Given the description of an element on the screen output the (x, y) to click on. 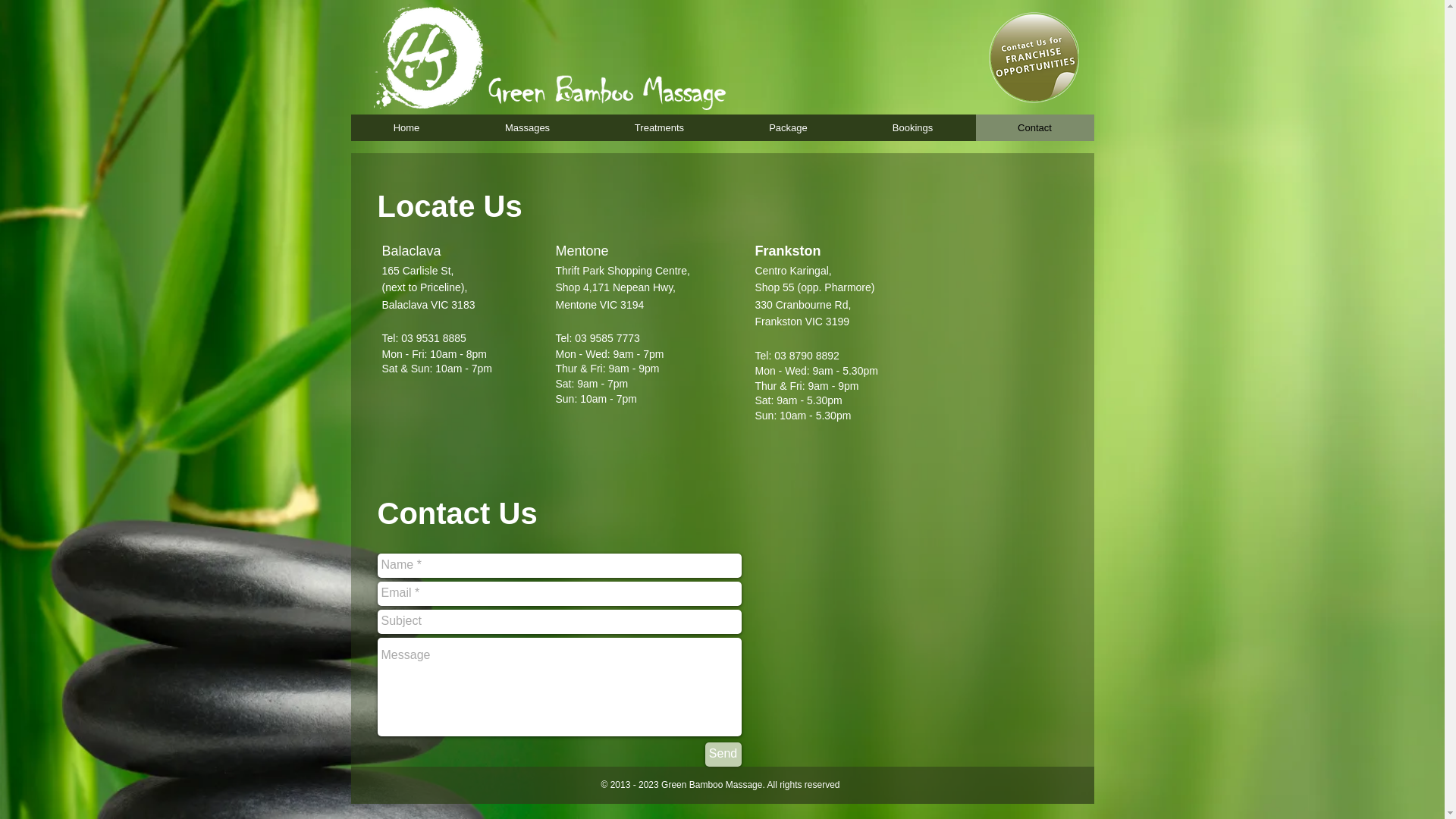
GBM_logo.png Element type: hover (550, 55)
icon.png Element type: hover (1032, 57)
Bookings Element type: text (911, 127)
Home Element type: text (405, 127)
Contact Element type: text (1034, 127)
Package Element type: text (788, 127)
Send Element type: text (723, 754)
Treatments Element type: text (658, 127)
Massages Element type: text (527, 127)
